Given the description of an element on the screen output the (x, y) to click on. 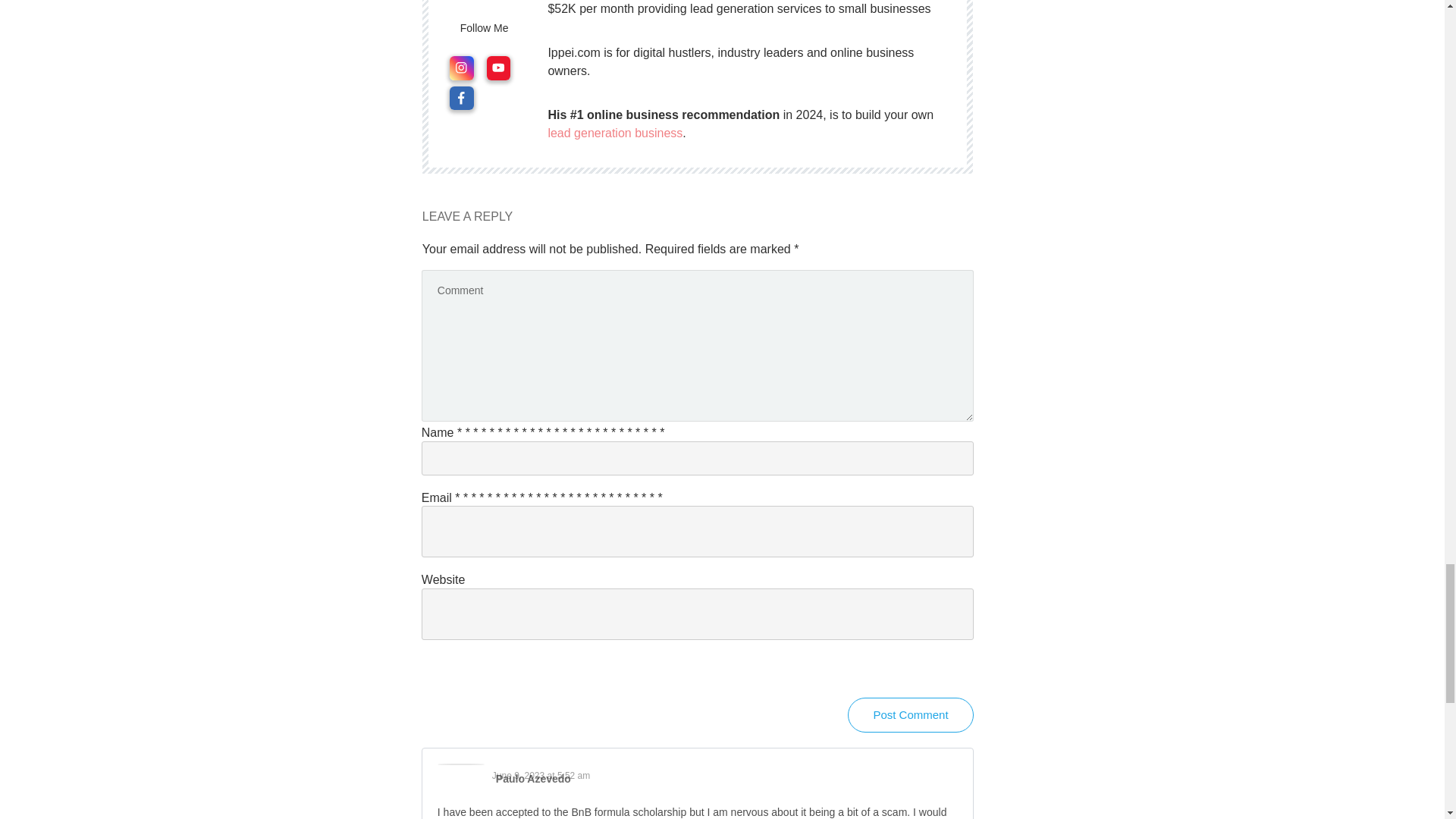
June 9, 2023 at 5:52 am (540, 775)
Post Comment (909, 714)
lead generation business (614, 132)
ippei-kanehara-cropped (484, 4)
